Given the description of an element on the screen output the (x, y) to click on. 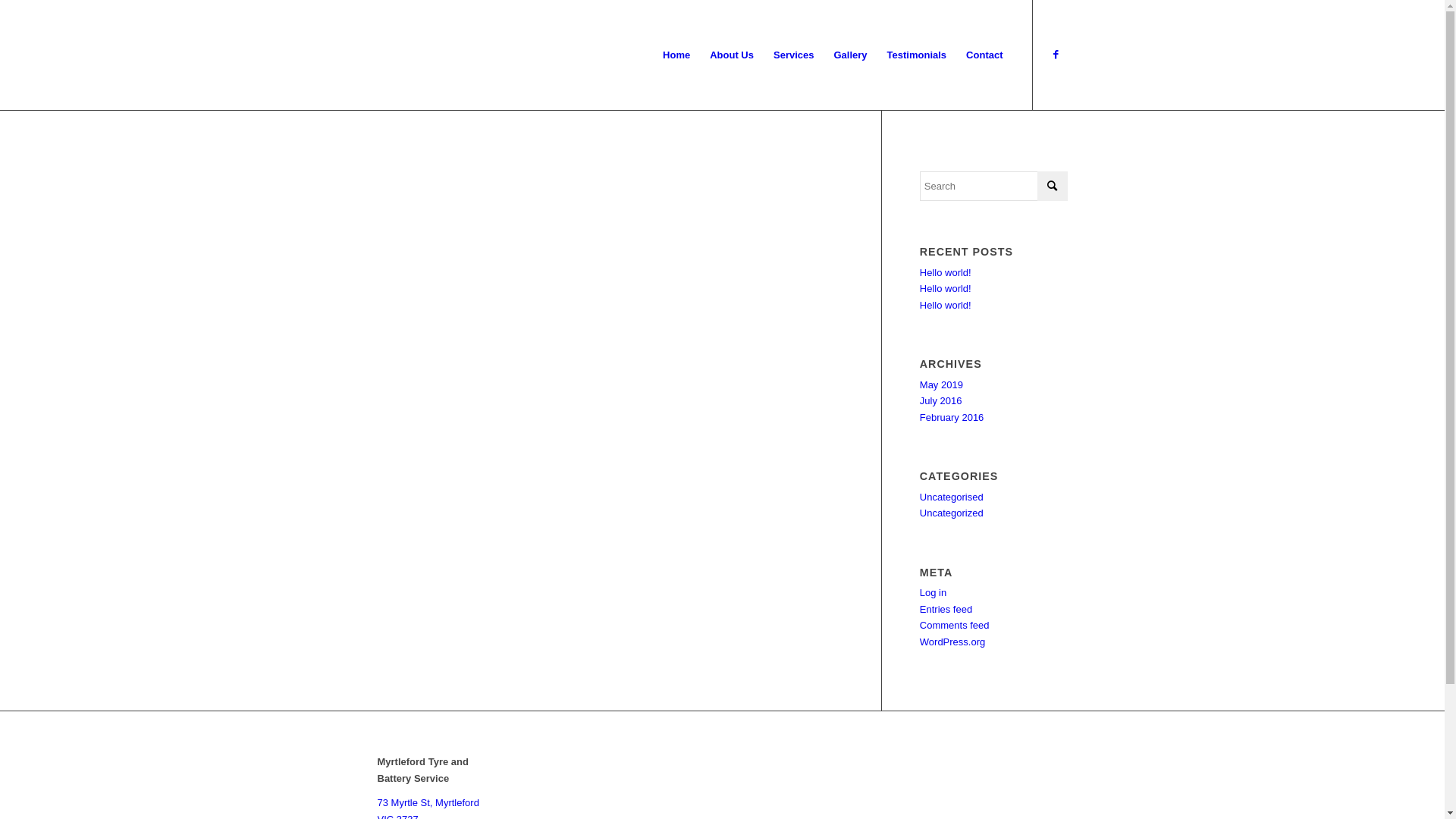
Hello world! Element type: text (945, 304)
Hello world! Element type: text (945, 288)
About Us Element type: text (731, 54)
Entries feed Element type: text (945, 609)
Uncategorized Element type: text (951, 512)
May 2019 Element type: text (941, 384)
July 2016 Element type: text (940, 400)
Comments feed Element type: text (954, 624)
Uncategorised Element type: text (951, 496)
Gallery Element type: text (849, 54)
February 2016 Element type: text (951, 417)
Testimonials Element type: text (917, 54)
Log in Element type: text (932, 592)
Hello world! Element type: text (945, 272)
Services Element type: text (793, 54)
Contact Element type: text (984, 54)
Home Element type: text (675, 54)
Facebook Element type: hover (1055, 53)
WordPress.org Element type: text (952, 641)
